Given the description of an element on the screen output the (x, y) to click on. 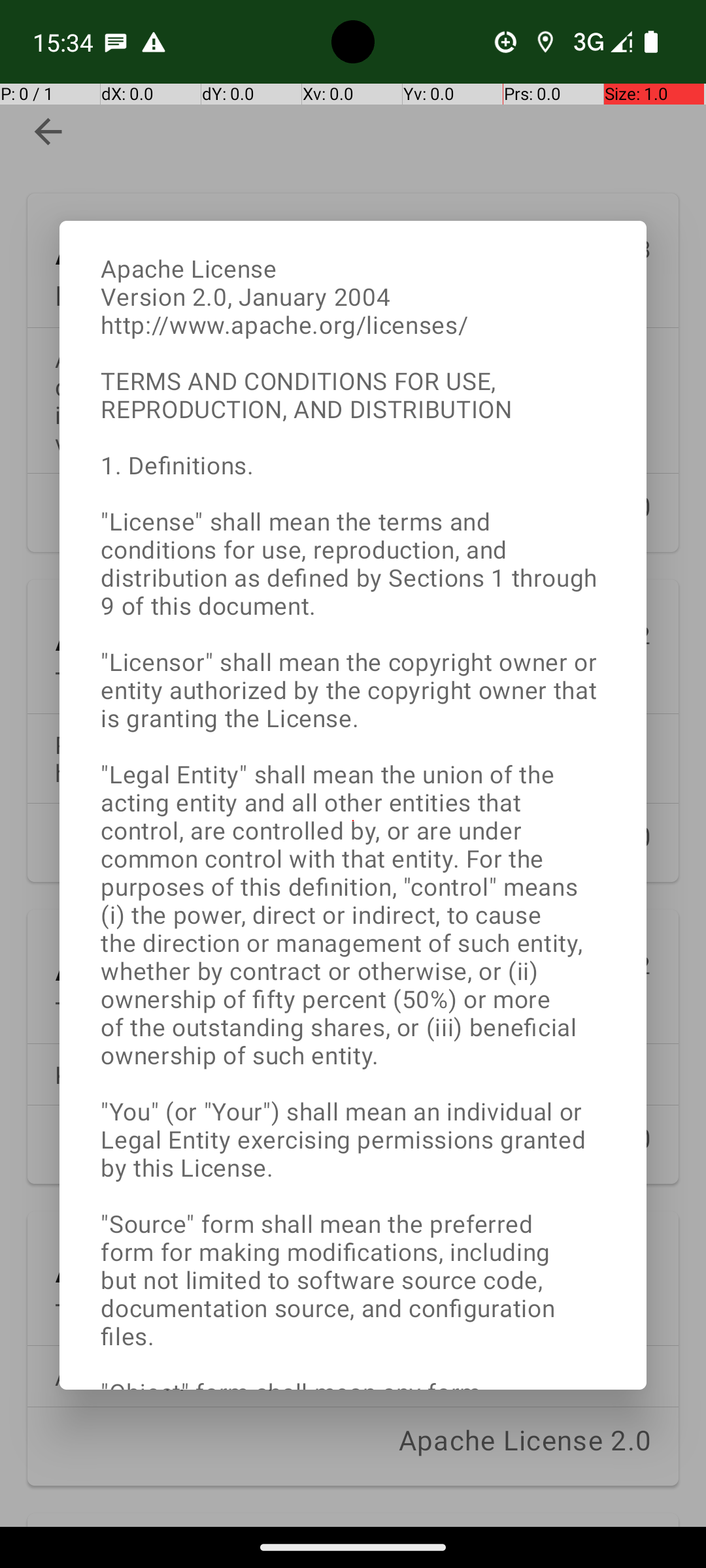
Apache License
Version 2.0, January 2004
http://www.apache.org/licenses/

TERMS AND CONDITIONS FOR USE, REPRODUCTION, AND DISTRIBUTION

1. Definitions.

"License" shall mean the terms and conditions for use, reproduction, and distribution as defined by Sections 1 through 9 of this document.

"Licensor" shall mean the copyright owner or entity authorized by the copyright owner that is granting the License.

"Legal Entity" shall mean the union of the acting entity and all other entities that control, are controlled by, or are under common control with that entity. For the purposes of this definition, "control" means (i) the power, direct or indirect, to cause the direction or management of such entity, whether by contract or otherwise, or (ii) ownership of fifty percent (50%) or more of the outstanding shares, or (iii) beneficial ownership of such entity.

"You" (or "Your") shall mean an individual or Legal Entity exercising permissions granted by this License.

"Source" form shall mean the preferred form for making modifications, including but not limited to software source code, documentation source, and configuration files.

"Object" form shall mean any form resulting from mechanical transformation or translation of a Source form, including but not limited to compiled object code, generated documentation, and conversions to other media types.

"Work" shall mean the work of authorship, whether in Source or Object form, made available under the License, as indicated by a copyright notice that is included in or attached to the work (an example is provided in the Appendix below).

"Derivative Works" shall mean any work, whether in Source or Object form, that is based on (or derived from) the Work and for which the editorial revisions, annotations, elaborations, or other modifications represent, as a whole, an original work of authorship. For the purposes of this License, Derivative Works shall not include works that remain separable from, or merely link (or bind by name) to the interfaces of, the Work and Derivative Works thereof.

"Contribution" shall mean any work of authorship, including the original version of the Work and any modifications or additions to that Work or Derivative Works thereof, that is intentionally submitted to Licensor for inclusion in the Work by the copyright owner or by an individual or Legal Entity authorized to submit on behalf of the copyright owner. For the purposes of this definition, "submitted" means any form of electronic, verbal, or written communication sent to the Licensor or its representatives, including but not limited to communication on electronic mailing lists, source code control systems, and issue tracking systems that are managed by, or on behalf of, the Licensor for the purpose of discussing and improving the Work, but excluding communication that is conspicuously marked or otherwise designated in writing by the copyright owner as "Not a Contribution."

"Contributor" shall mean Licensor and any individual or Legal Entity on behalf of whom a Contribution has been received by Licensor and subsequently incorporated within the Work.

2. Grant of Copyright License. Subject to the terms and conditions of this License, each Contributor hereby grants to You a perpetual, worldwide, non-exclusive, no-charge, royalty-free, irrevocable copyright license to reproduce, prepare Derivative Works of, publicly display, publicly perform, sublicense, and distribute the Work and such Derivative Works in Source or Object form.

3. Grant of Patent License. Subject to the terms and conditions of this License, each Contributor hereby grants to You a perpetual, worldwide, non-exclusive, no-charge, royalty-free, irrevocable (except as stated in this section) patent license to make, have made, use, offer to sell, sell, import, and otherwise transfer the Work, where such license applies only to those patent claims licensable by such Contributor that are necessarily infringed by their Contribution(s) alone or by combination of their Contribution(s) with the Work to which such Contribution(s) was submitted. If You institute patent litigation against any entity (including a cross-claim or counterclaim in a lawsuit) alleging that the Work or a Contribution incorporated within the Work constitutes direct or contributory patent infringement, then any patent licenses granted to You under this License for that Work shall terminate as of the date such litigation is filed.

4. Redistribution. You may reproduce and distribute copies of the Work or Derivative Works thereof in any medium, with or without modifications, and in Source or Object form, provided that You meet the following conditions:

(a) You must give any other recipients of the Work or Derivative Works a copy of this License; and

(b) You must cause any modified files to carry prominent notices stating that You changed the files; and

(c) You must retain, in the Source form of any Derivative Works that You distribute, all copyright, patent, trademark, and attribution notices from the Source form of the Work, excluding those notices that do not pertain to any part of the Derivative Works; and

(d) If the Work includes a "NOTICE" text file as part of its distribution, then any Derivative Works that You distribute must include a readable copy of the attribution notices contained within such NOTICE file, excluding those notices that do not pertain to any part of the Derivative Works, in at least one of the following places: within a NOTICE text file distributed as part of the Derivative Works; within the Source form or documentation, if provided along with the Derivative Works; or, within a display generated by the Derivative Works, if and wherever such third-party notices normally appear. The contents of the NOTICE file are for informational purposes only and do not modify the License. You may add Your own attribution notices within Derivative Works that You distribute, alongside or as an addendum to the NOTICE text from the Work, provided that such additional attribution notices cannot be construed as modifying the License.

You may add Your own copyright statement to Your modifications and may provide additional or different license terms and conditions for use, reproduction, or distribution of Your modifications, or for any such Derivative Works as a whole, provided Your use, reproduction, and distribution of the Work otherwise complies with the conditions stated in this License.

5. Submission of Contributions. Unless You explicitly state otherwise, any Contribution intentionally submitted for inclusion in the Work by You to the Licensor shall be under the terms and conditions of this License, without any additional terms or conditions. Notwithstanding the above, nothing herein shall supersede or modify the terms of any separate license agreement you may have executed with Licensor regarding such Contributions.

6. Trademarks. This License does not grant permission to use the trade names, trademarks, service marks, or product names of the Licensor, except as required for reasonable and customary use in describing the origin of the Work and reproducing the content of the NOTICE file.

7. Disclaimer of Warranty. Unless required by applicable law or agreed to in writing, Licensor provides the Work (and each Contributor provides its Contributions) on an "AS IS" BASIS, WITHOUT WARRANTIES OR CONDITIONS OF ANY KIND, either express or implied, including, without limitation, any warranties or conditions of TITLE, NON-INFRINGEMENT, MERCHANTABILITY, or FITNESS FOR A PARTICULAR PURPOSE. You are solely responsible for determining the appropriateness of using or redistributing the Work and assume any risks associated with Your exercise of permissions under this License.

8. Limitation of Liability. In no event and under no legal theory, whether in tort (including negligence), contract, or otherwise, unless required by applicable law (such as deliberate and grossly negligent acts) or agreed to in writing, shall any Contributor be liable to You for damages, including any direct, indirect, special, incidental, or consequential damages of any character arising as a result of this License or out of the use or inability to use the Work (including but not limited to damages for loss of goodwill, work stoppage, computer failure or malfunction, or any and all other commercial damages or losses), even if such Contributor has been advised of the possibility of such damages.

9. Accepting Warranty or Additional Liability. While redistributing the Work or Derivative Works thereof, You may choose to offer, and charge a fee for, acceptance of support, warranty, indemnity, or other liability obligations and/or rights consistent with this License. However, in accepting such obligations, You may act only on Your own behalf and on Your sole responsibility, not on behalf of any other Contributor, and only if You agree to indemnify, defend, and hold each Contributor harmless for any liability incurred by, or claims asserted against, such Contributor by reason of your accepting any such warranty or additional liability.

END OF TERMS AND CONDITIONS

APPENDIX: How to apply the Apache License to your work.

To apply the Apache License to your work, attach the following boilerplate notice, with the fields enclosed by brackets "[]" replaced with your own identifying information. (Don't include the brackets!) The text should be enclosed in the appropriate comment syntax for the file format. We also recommend that a file or class name and description of purpose be included on the same "printed page" as the copyright notice for easier identification within third-party archives.

Copyright [yyyy] [name of copyright owner]

Licensed under the Apache License, Version 2.0 (the "License");
you may not use this file except in compliance with the License.
You may obtain a copy of the License at

http://www.apache.org/licenses/LICENSE-2.0

Unless required by applicable law or agreed to in writing, software
distributed under the License is distributed on an "AS IS" BASIS,
WITHOUT WARRANTIES OR CONDITIONS OF ANY KIND, either express or implied.
See the License for the specific language governing permissions and
limitations under the License. Element type: android.widget.TextView (352, 820)
